Given the description of an element on the screen output the (x, y) to click on. 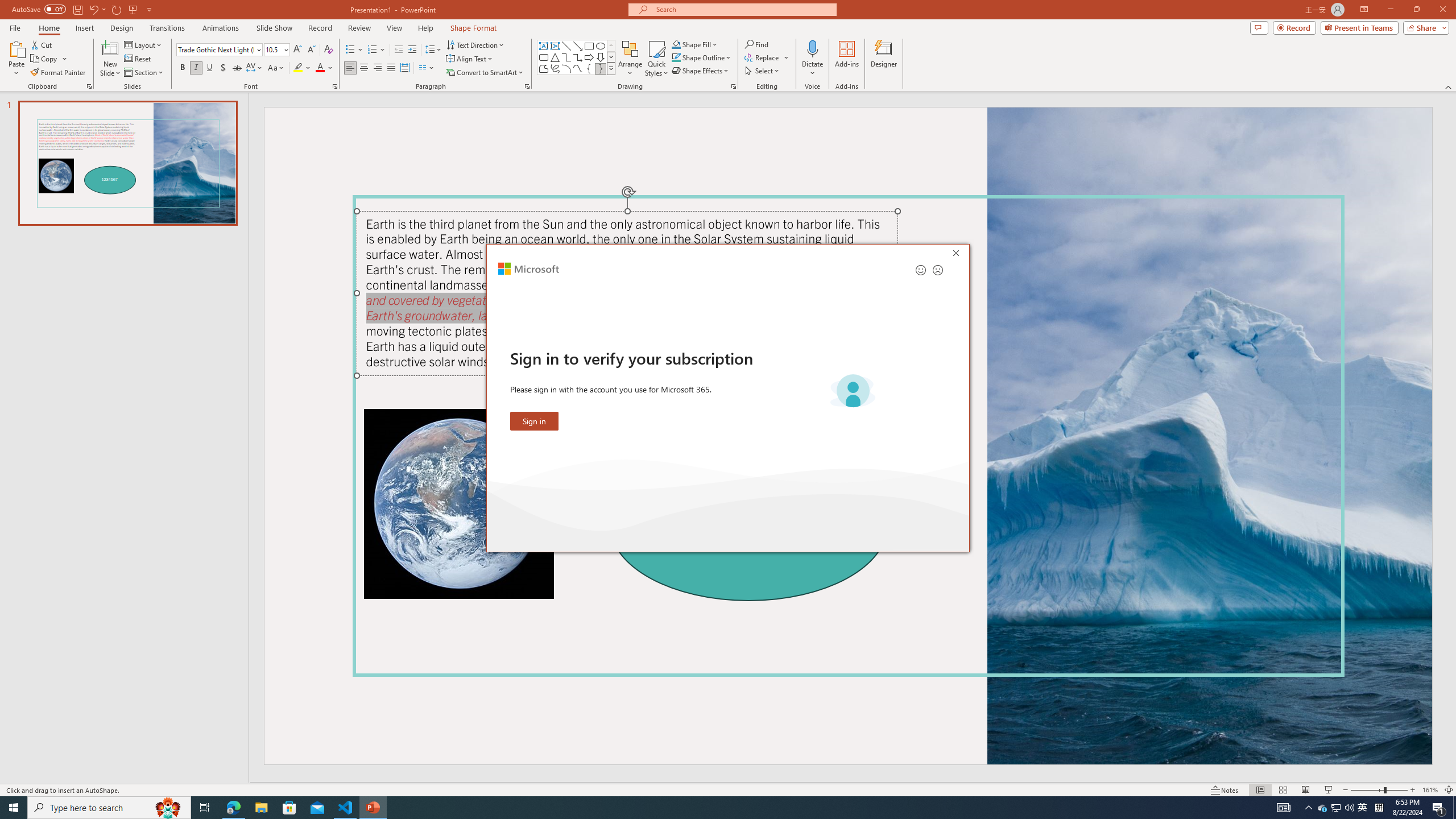
Underline (1322, 807)
Shape Fill Aqua, Accent 2 (209, 67)
Layout (675, 44)
